Given the description of an element on the screen output the (x, y) to click on. 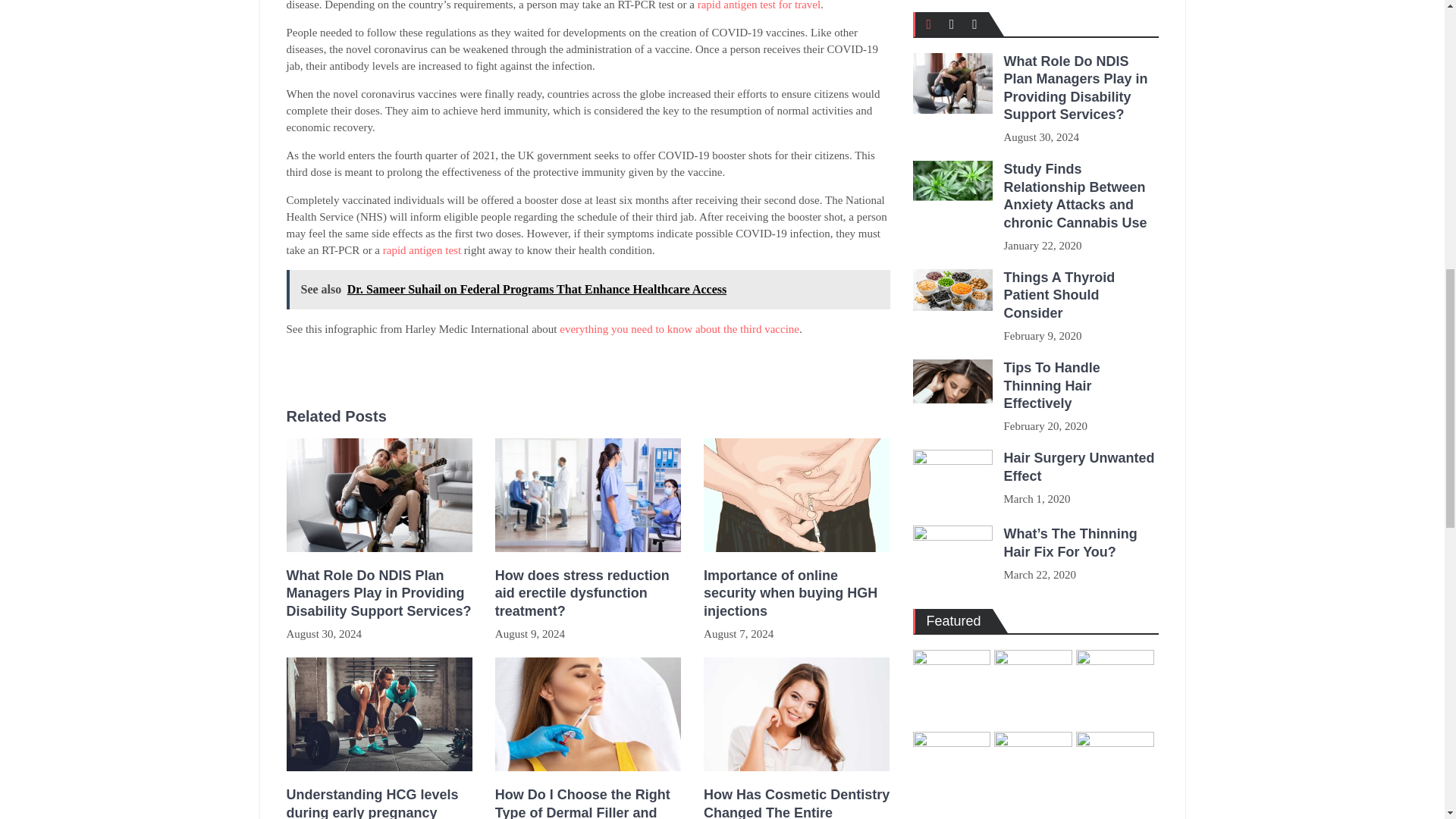
Importance of online security when buying HGH injections (796, 593)
rapid antigen test for travel (759, 5)
everything you need to know about the third vaccine (679, 328)
Understanding HCG levels during early pregnancy (378, 802)
rapid antigen test (421, 250)
